Given the description of an element on the screen output the (x, y) to click on. 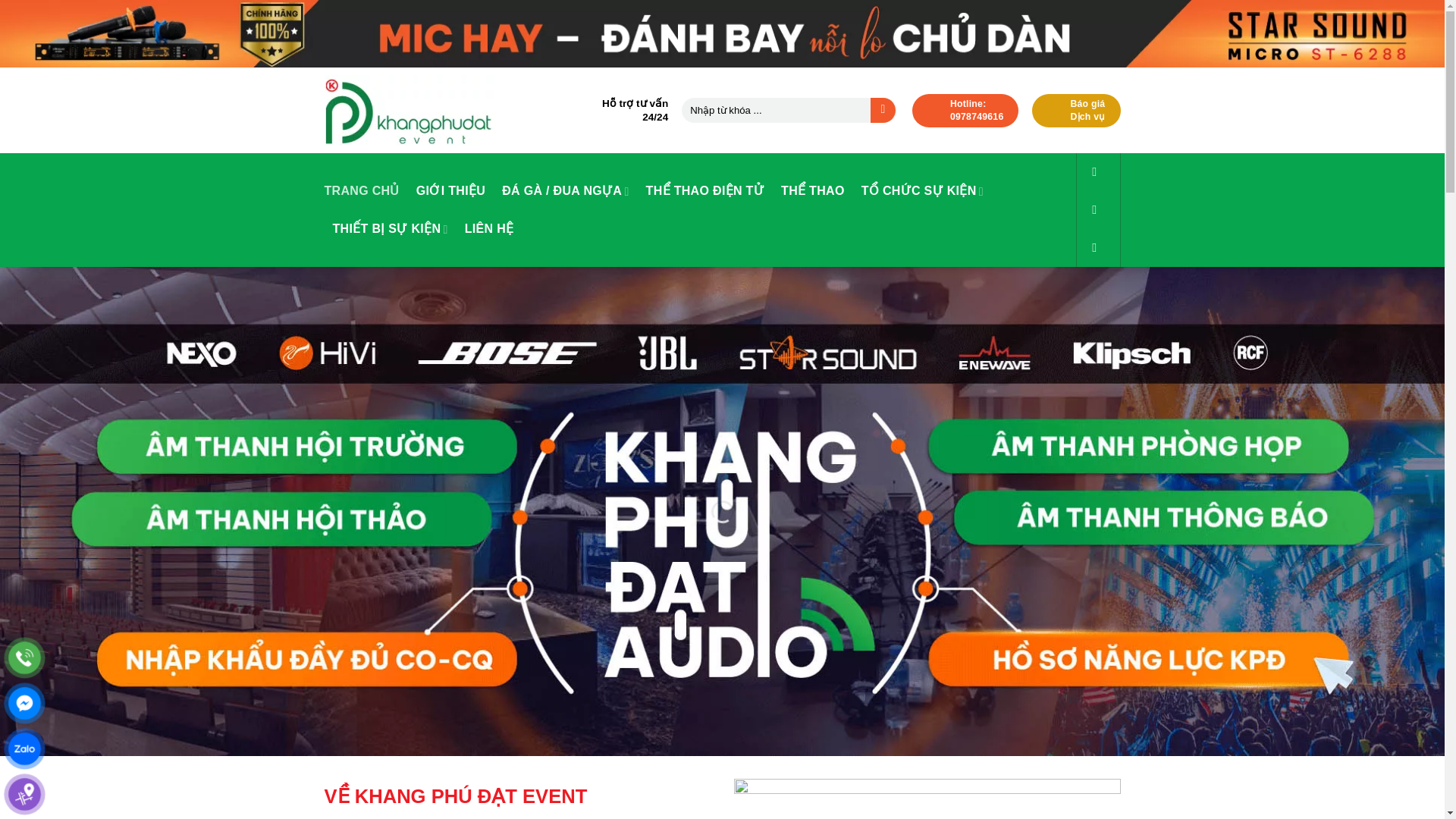
Maps (24, 794)
Phone (24, 657)
Messenger (965, 110)
Zalo (24, 703)
